Given the description of an element on the screen output the (x, y) to click on. 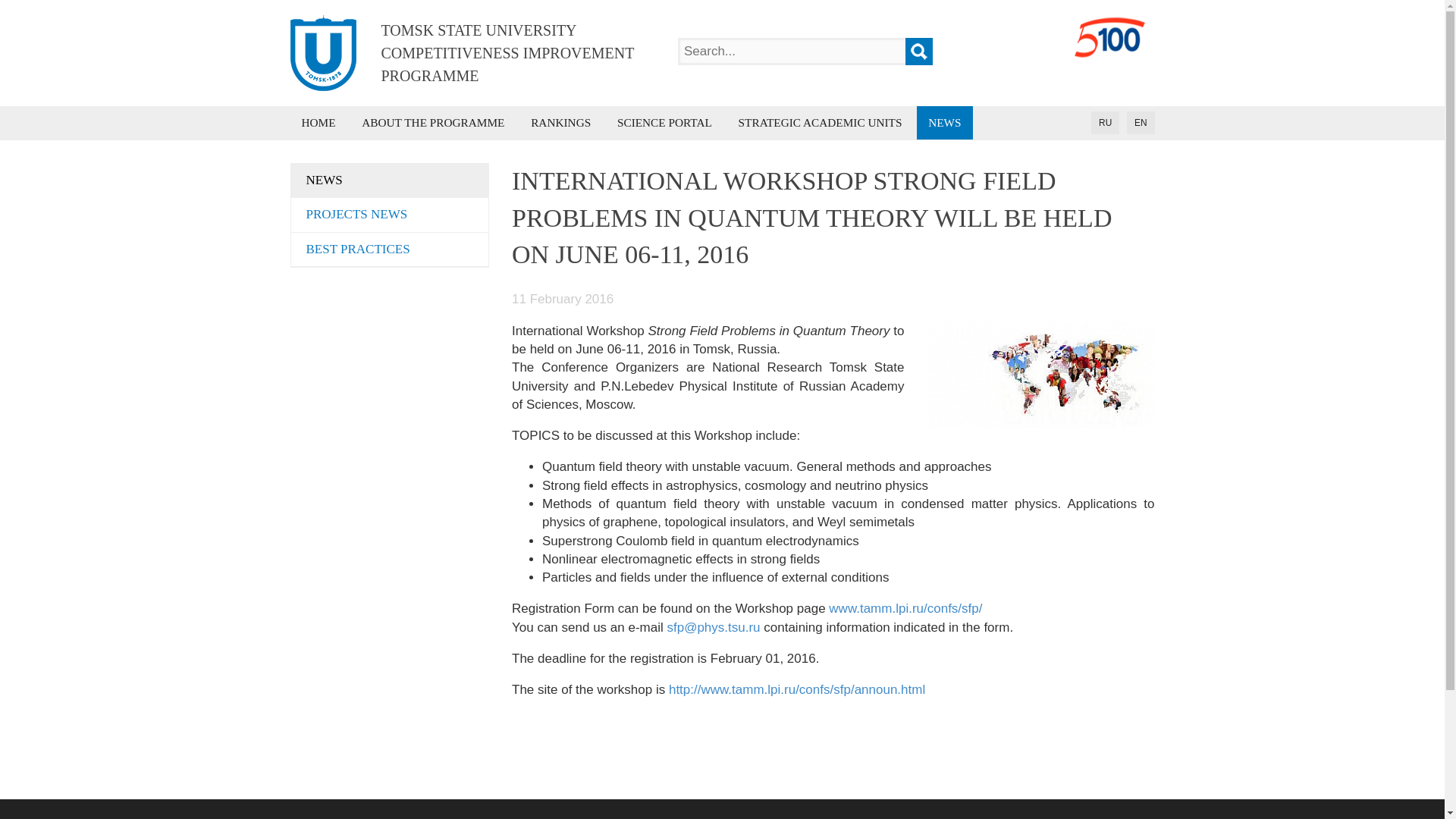
HOME (317, 122)
BEST PRACTICES (390, 249)
RANKINGS (560, 122)
PROJECTS NEWS (390, 214)
TOMSK STATE UNIVERSITY COMPETITIVENESS IMPROVEMENT PROGRAMME (463, 52)
NEWS (390, 180)
RU (1104, 122)
NEWS (944, 122)
ABOUT THE PROGRAMME (432, 122)
SCIENCE PORTAL (664, 122)
EN (1140, 122)
STRATEGIC ACADEMIC UNITS (820, 122)
